Given the description of an element on the screen output the (x, y) to click on. 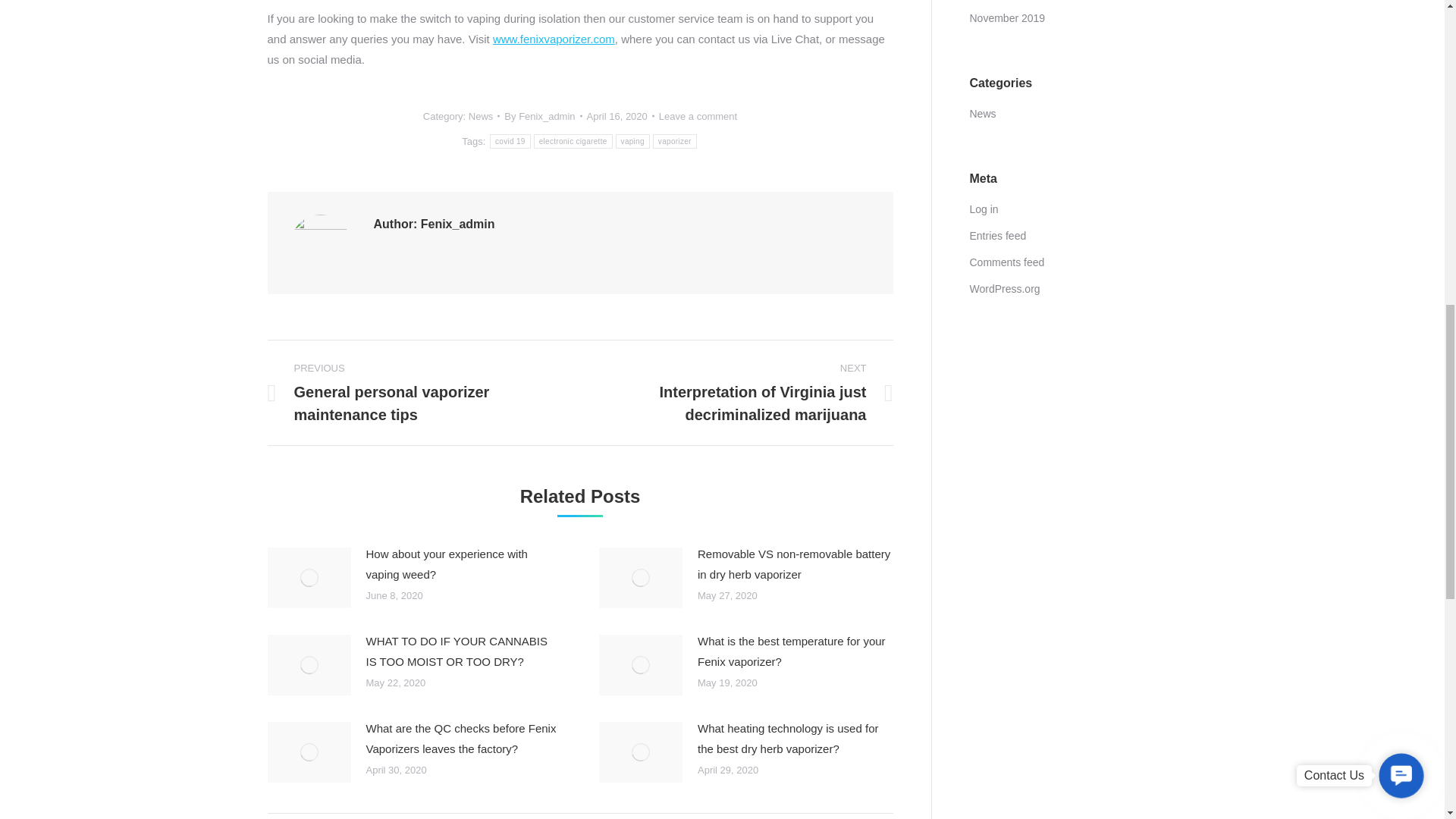
News (480, 116)
Leave a comment (697, 116)
10:37 am (619, 116)
www.fenixvaporizer.com (553, 38)
electronic cigarette (573, 140)
covid 19 (510, 140)
April 16, 2020 (619, 116)
